Given the description of an element on the screen output the (x, y) to click on. 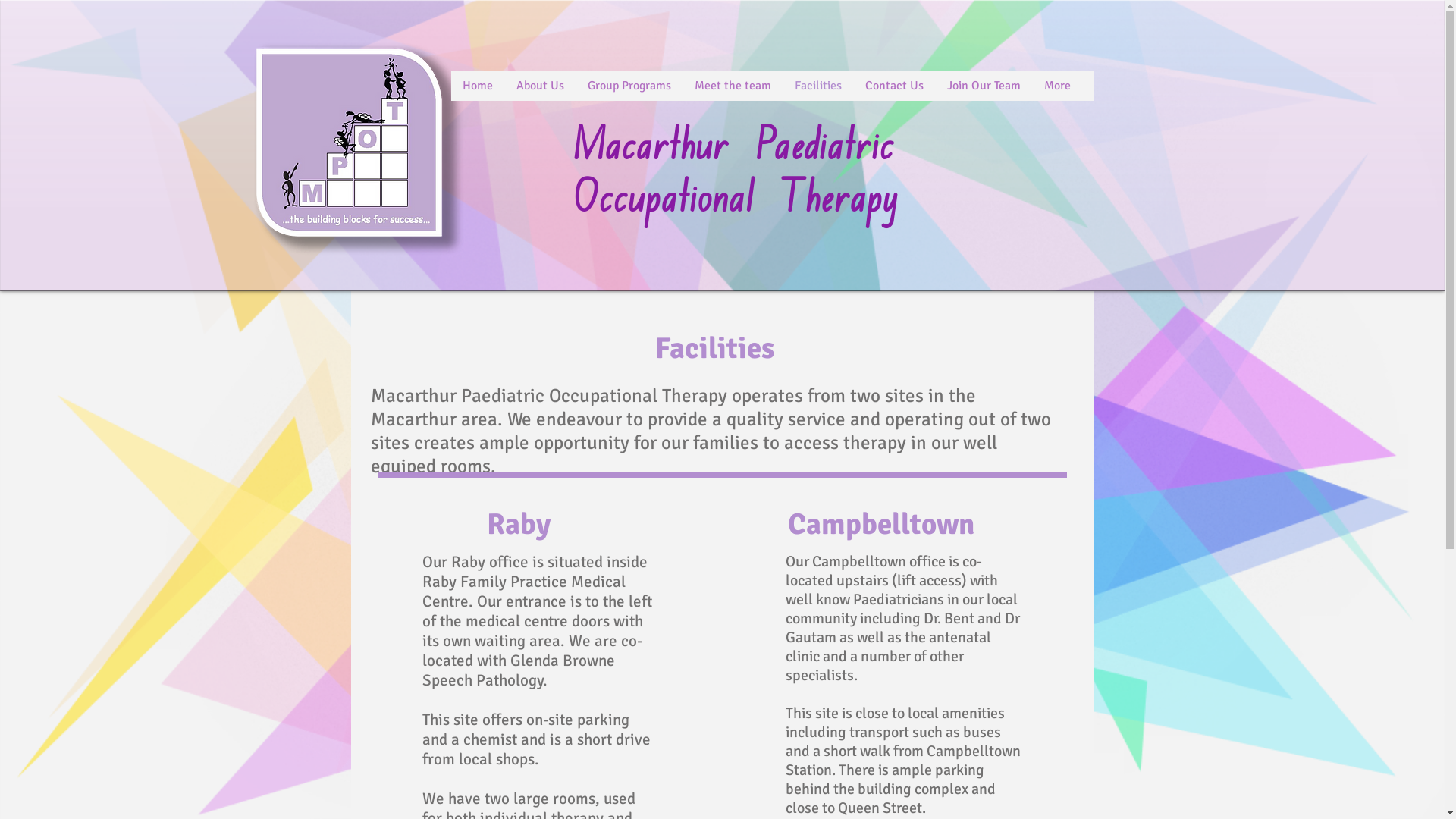
About Us Element type: text (538, 85)
Occupational Therapy Element type: text (733, 202)
Join Our Team Element type: text (982, 85)
Facilities Element type: text (817, 85)
Group Programs Element type: text (627, 85)
Macarthur Paediatric Element type: text (731, 149)
Contact Us Element type: text (893, 85)
Home Element type: text (476, 85)
Meet the team Element type: text (732, 85)
